Given the description of an element on the screen output the (x, y) to click on. 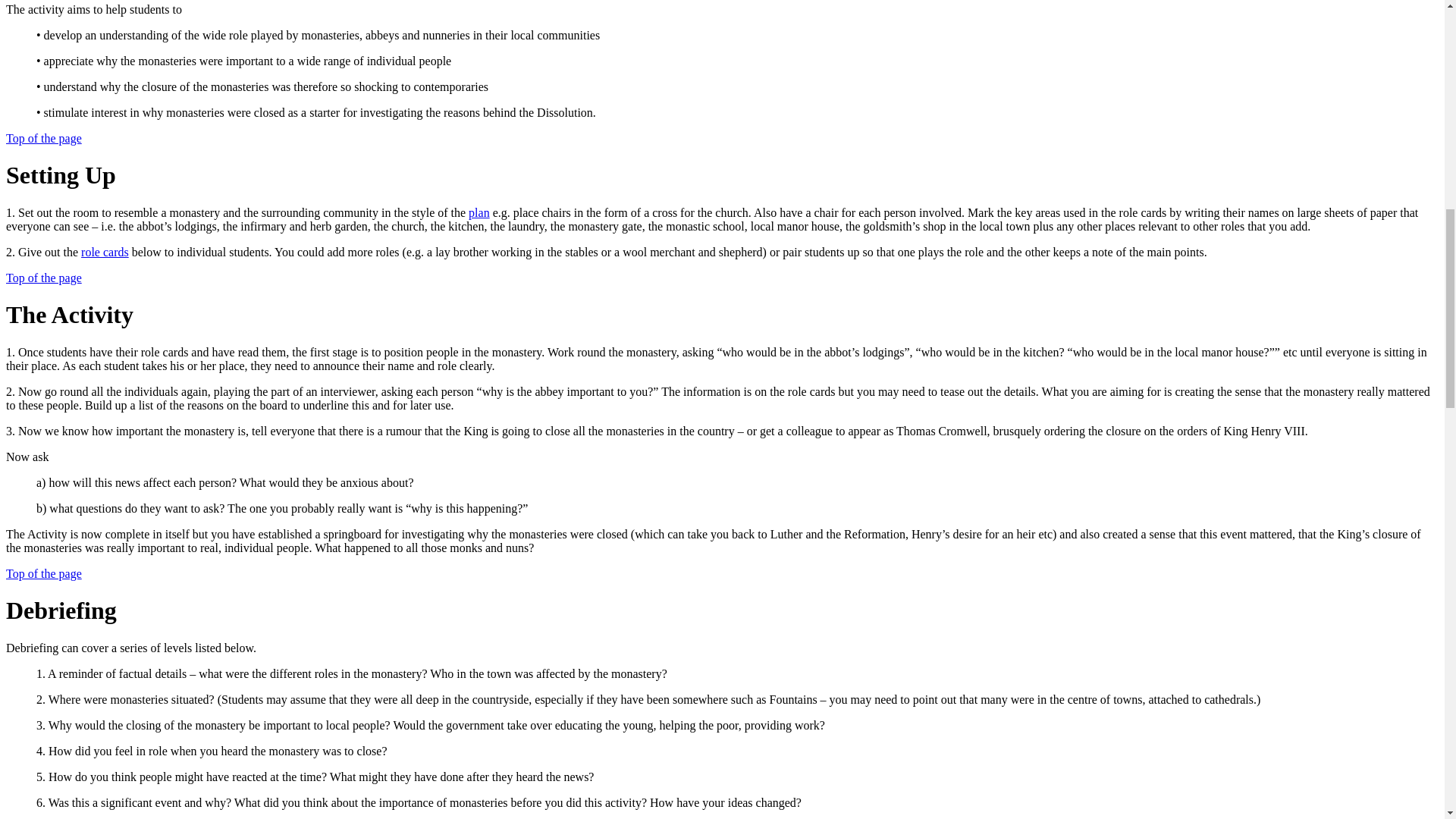
Download role cards in a new window (105, 251)
Top of the page (43, 137)
Top of the page (43, 277)
role cards (105, 251)
See the room plan in a new window (478, 212)
plan (478, 212)
Top of the page (43, 573)
